Given the description of an element on the screen output the (x, y) to click on. 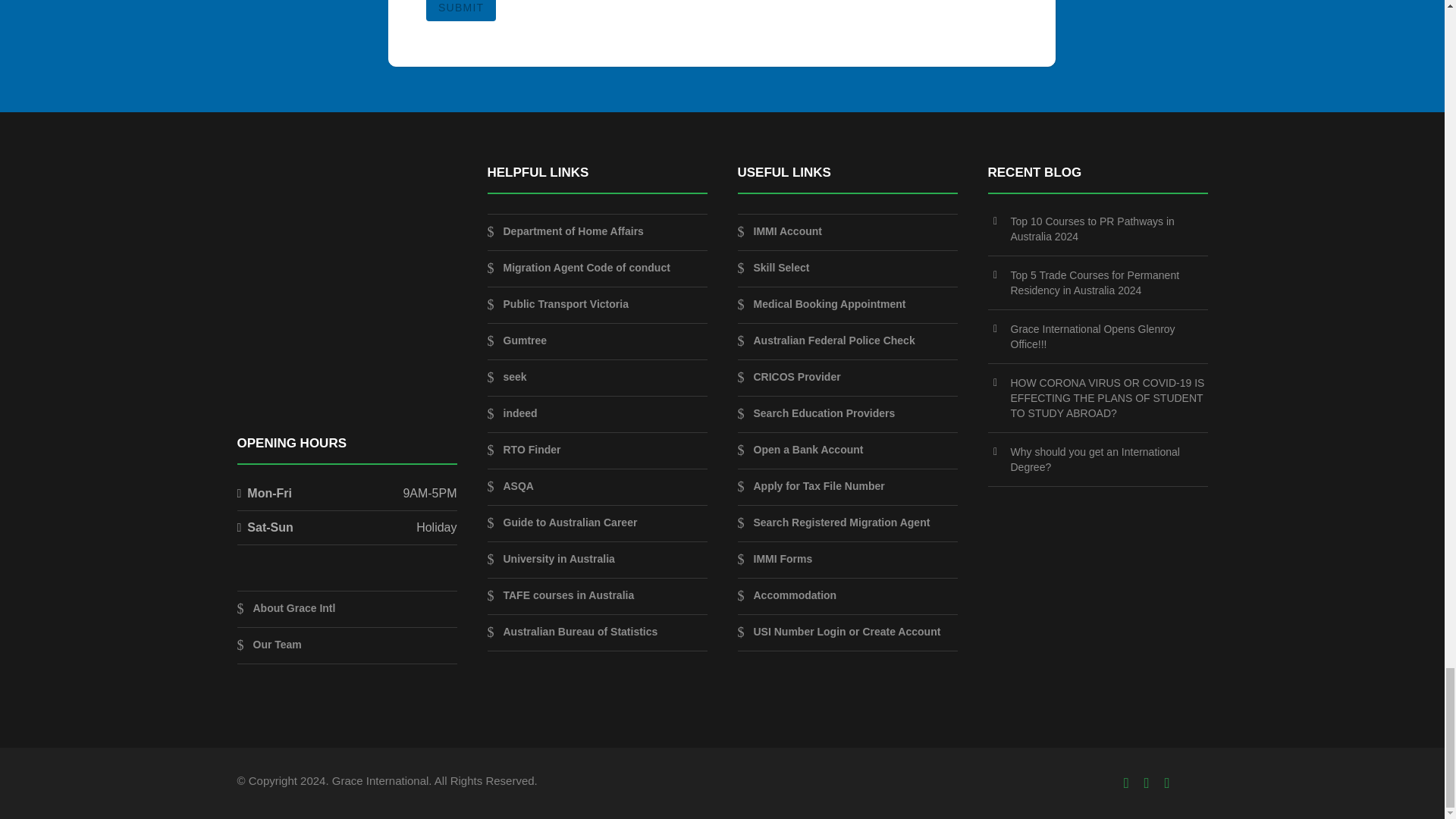
instagram (1167, 782)
facebook (1126, 782)
twitter (1147, 782)
